Given the description of an element on the screen output the (x, y) to click on. 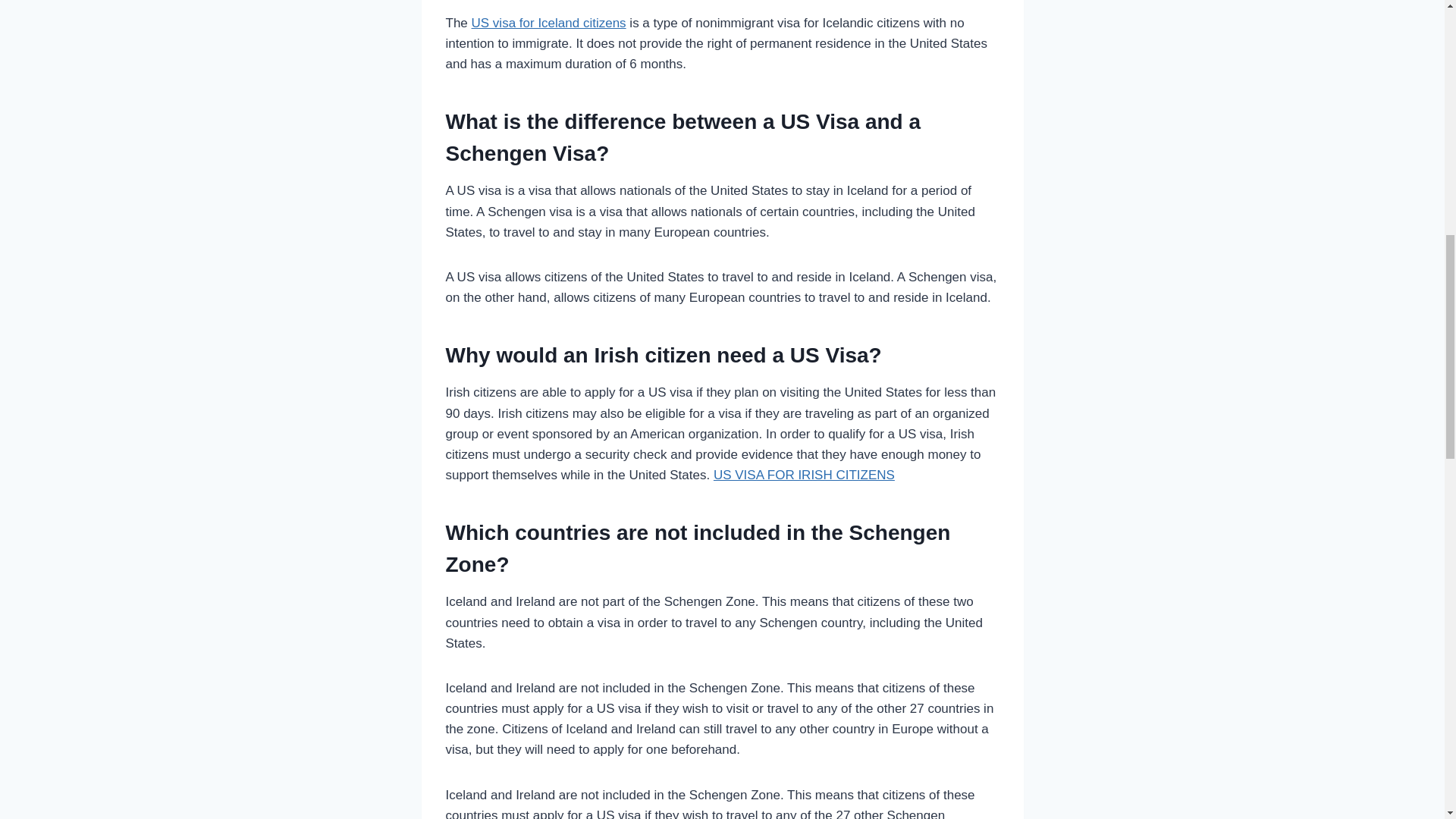
US visa for Iceland citizens (548, 22)
US VISA FOR IRISH CITIZENS (804, 474)
